Given the description of an element on the screen output the (x, y) to click on. 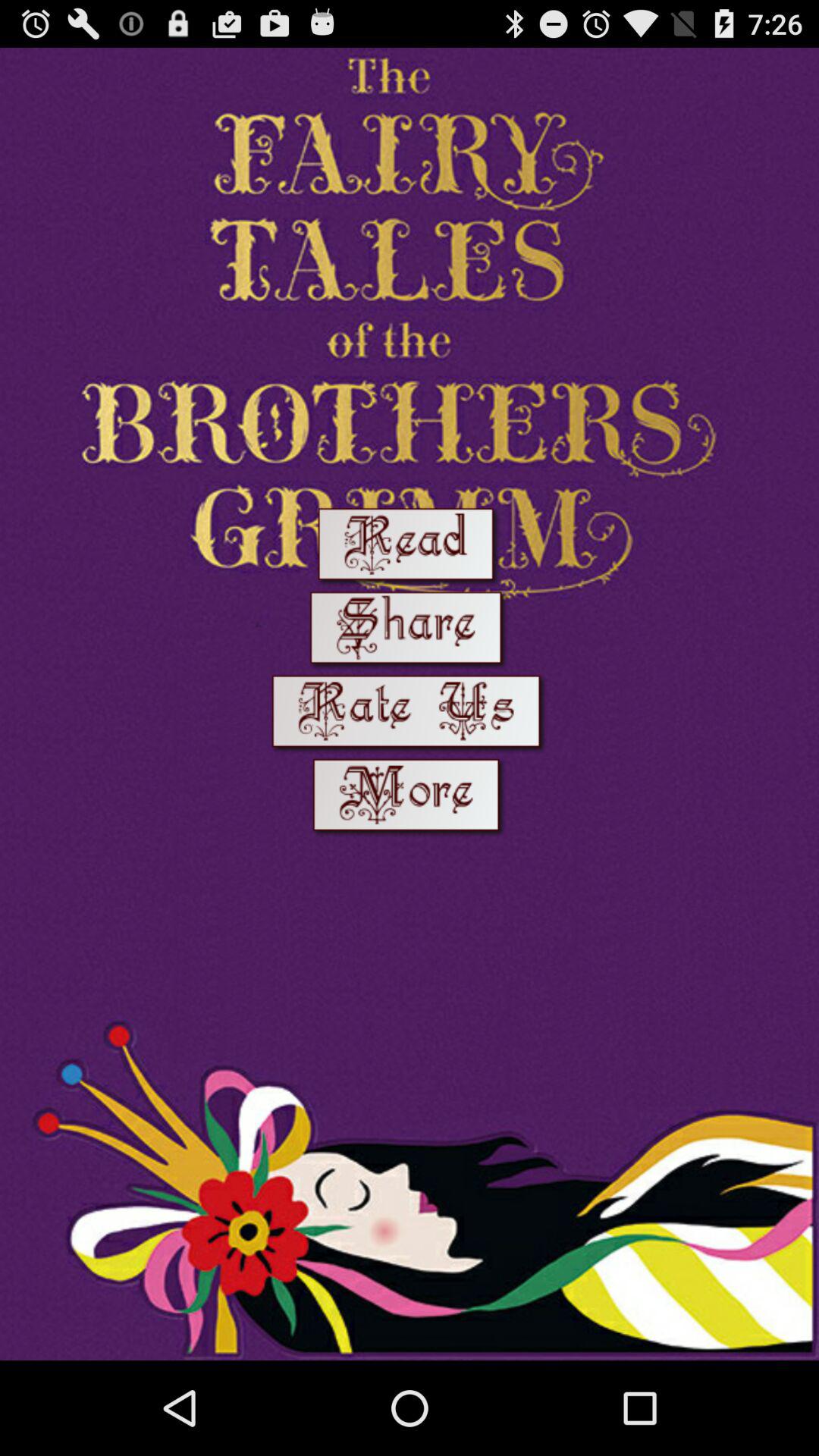
start reading (408, 547)
